Given the description of an element on the screen output the (x, y) to click on. 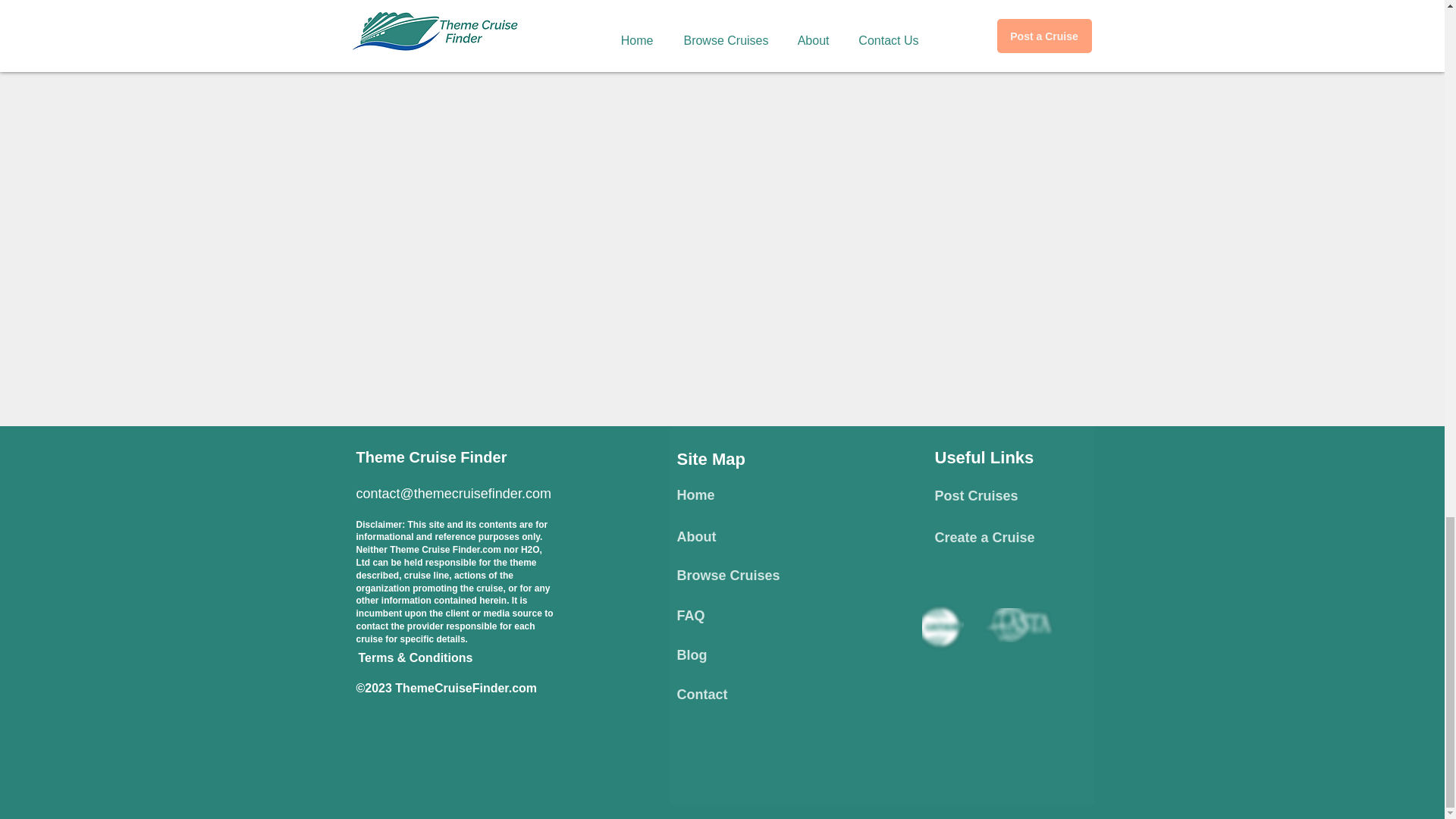
Contact (701, 694)
FAQ (690, 615)
Blog (691, 654)
Wix (844, 723)
Create a Cruise (983, 537)
Home (695, 494)
Theme Cruise Finder (431, 457)
About (696, 536)
Post Cruises (975, 495)
Browse Cruises (727, 575)
